Given the description of an element on the screen output the (x, y) to click on. 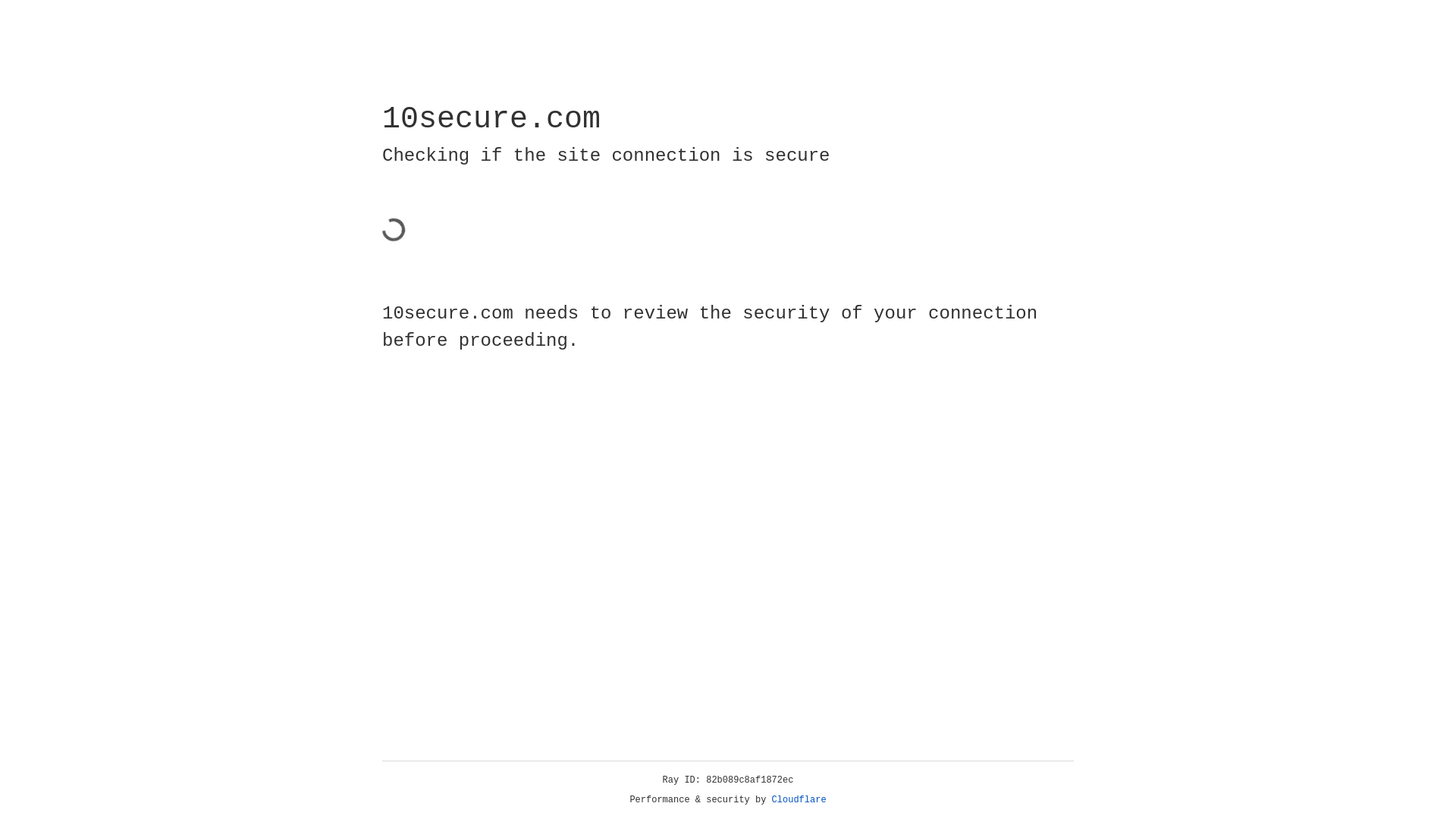
Cloudflare Element type: text (798, 799)
